Given the description of an element on the screen output the (x, y) to click on. 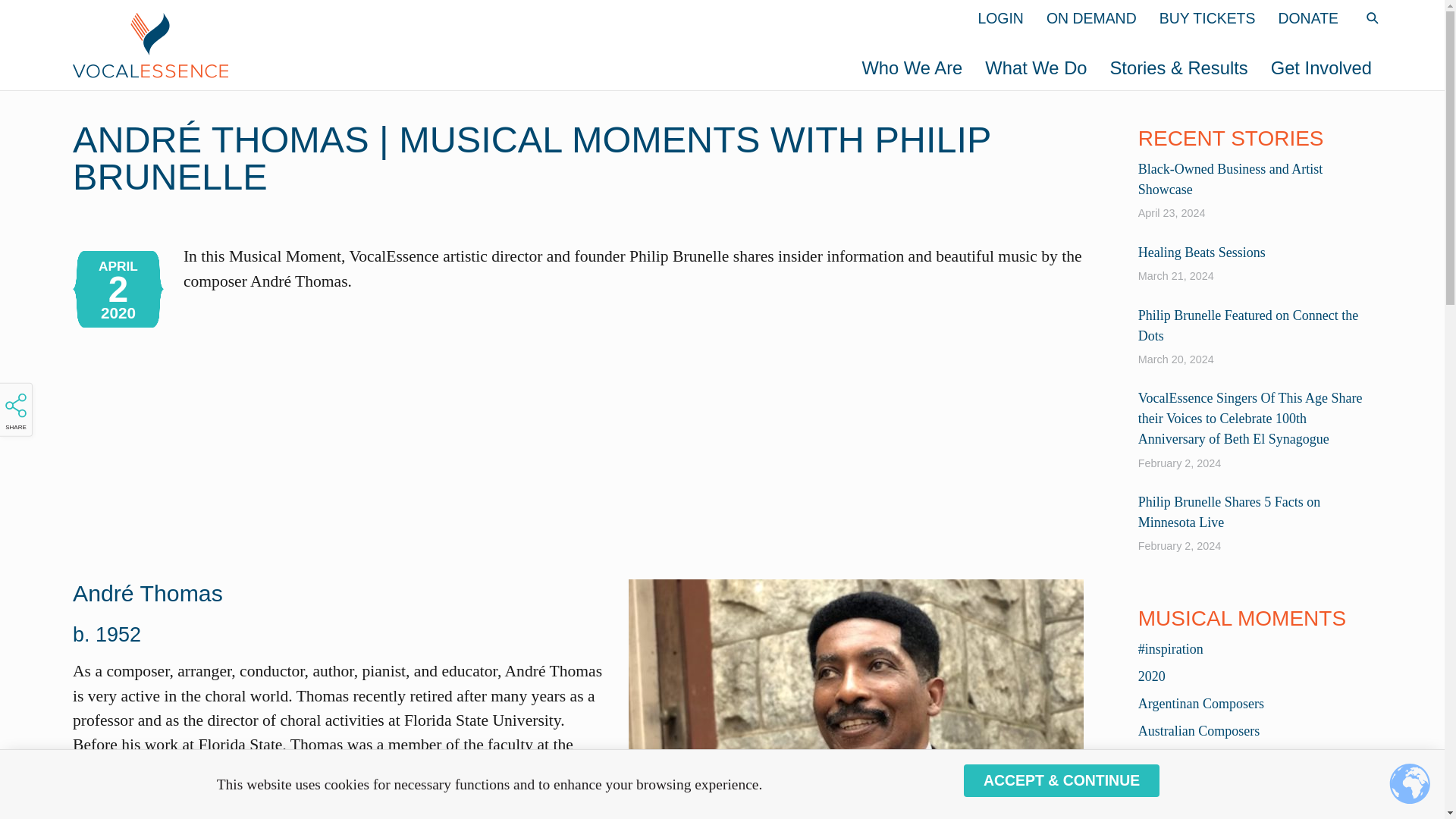
What We Do (1035, 67)
LOGIN (1000, 18)
Get Involved (1321, 67)
ON DEMAND (1091, 18)
VocalEssence (433, 44)
Who We Are (912, 67)
